Given the description of an element on the screen output the (x, y) to click on. 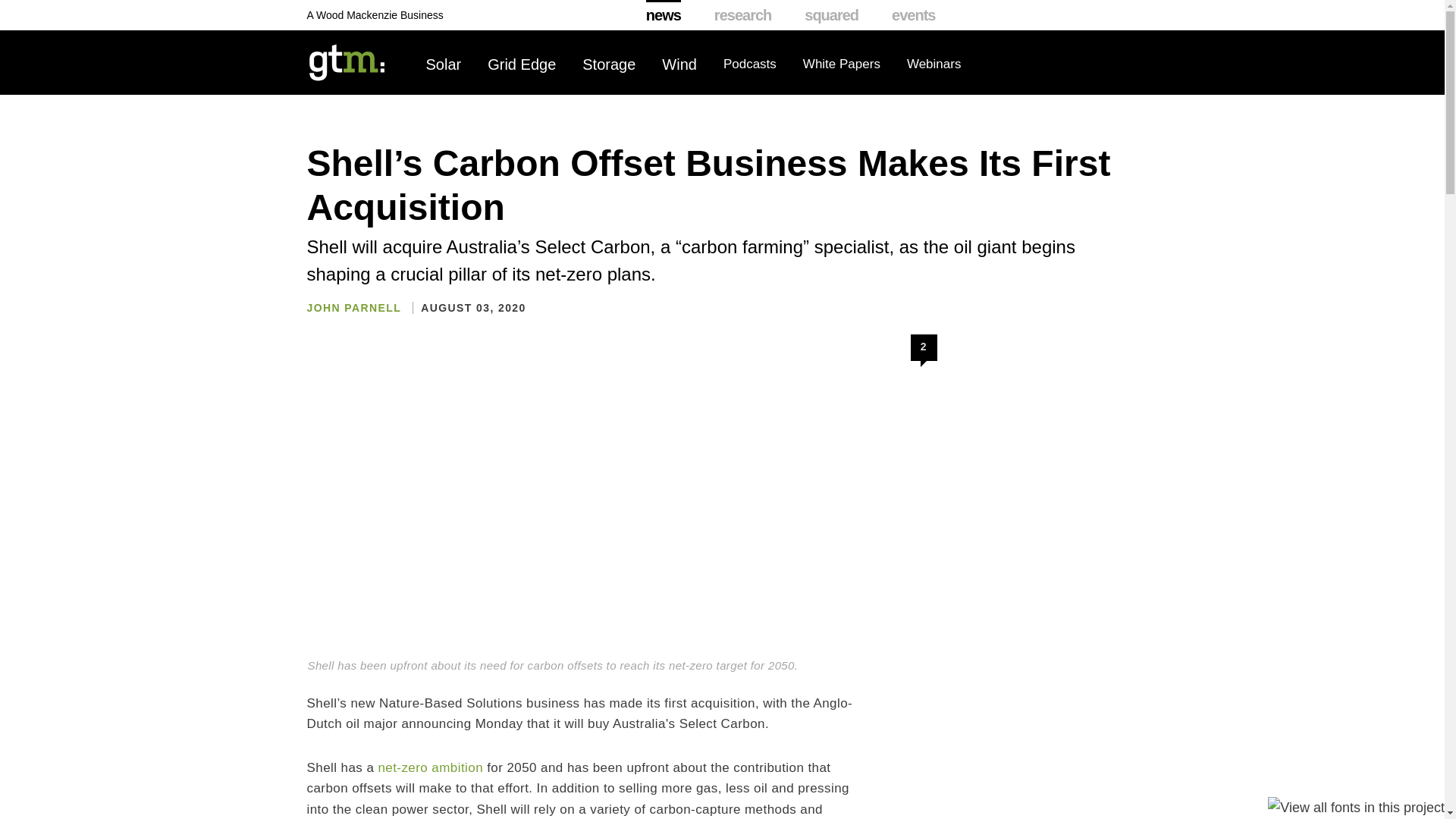
Wind (679, 64)
news (663, 15)
White Papers (841, 64)
Solar (443, 64)
Podcasts (749, 64)
events (912, 15)
Grid Edge (521, 64)
squared (832, 15)
research (742, 15)
Storage (608, 64)
